Given the description of an element on the screen output the (x, y) to click on. 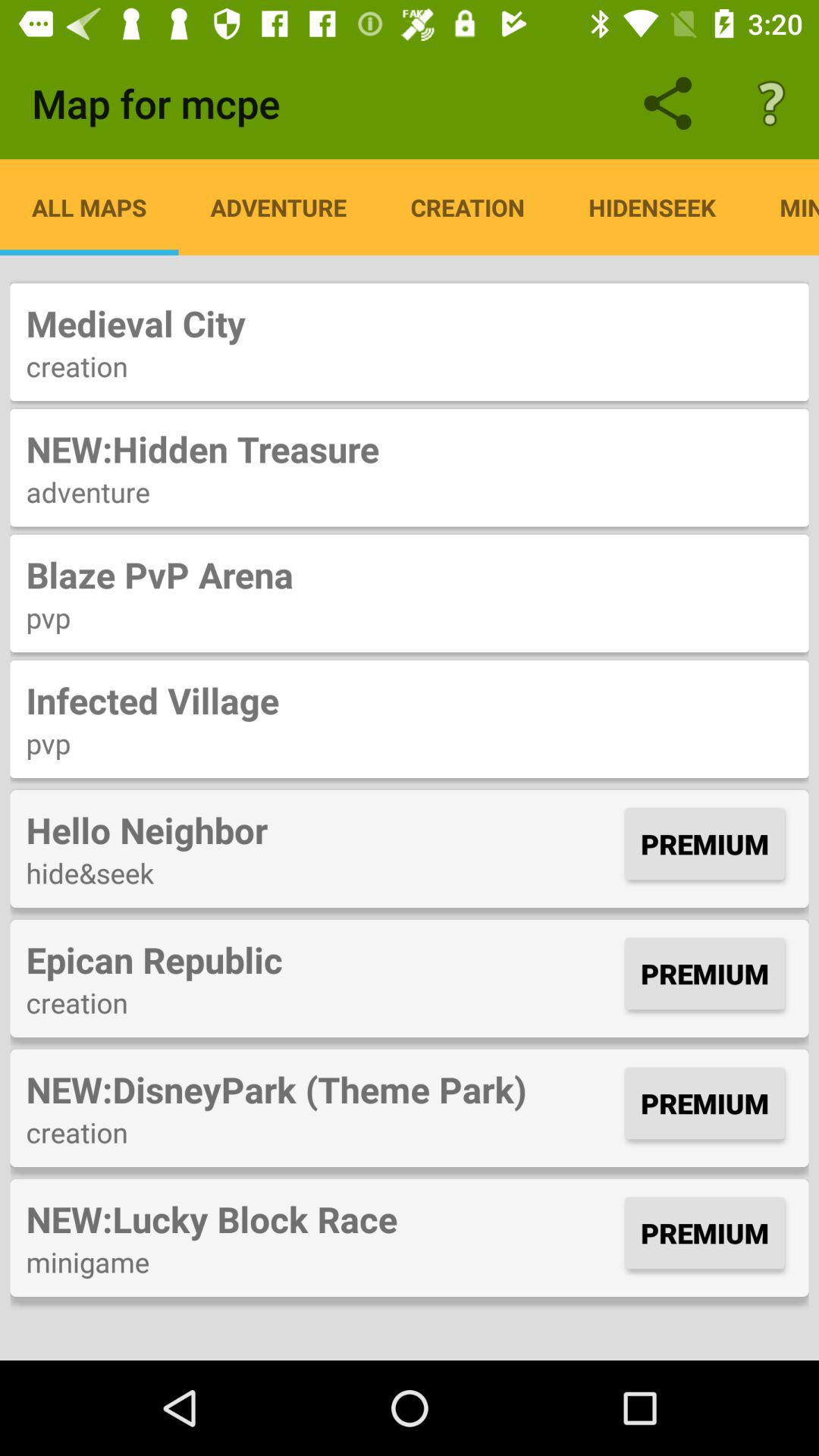
press the icon to the left of the premium (321, 959)
